Given the description of an element on the screen output the (x, y) to click on. 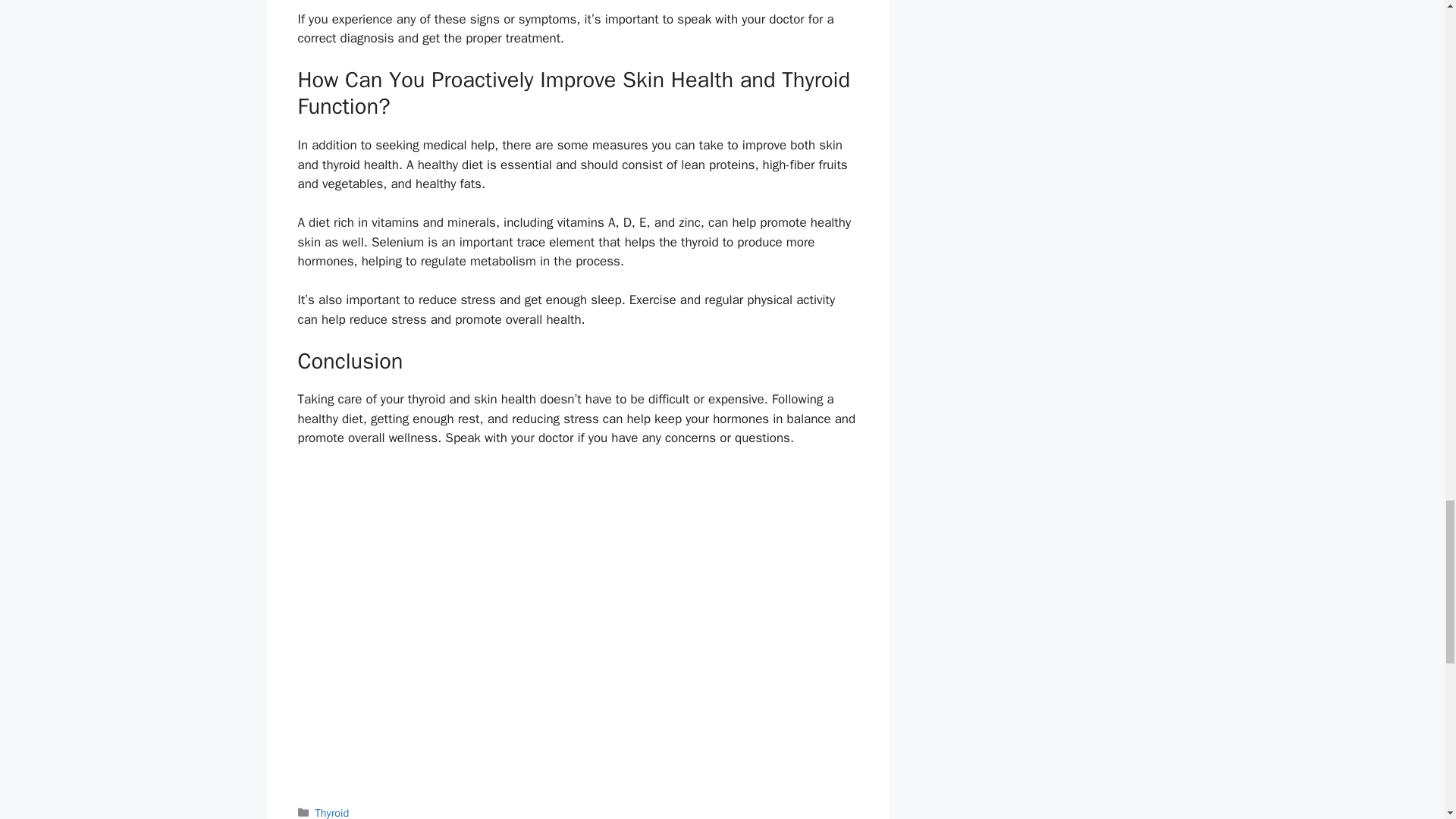
Thyroid (332, 812)
